Given the description of an element on the screen output the (x, y) to click on. 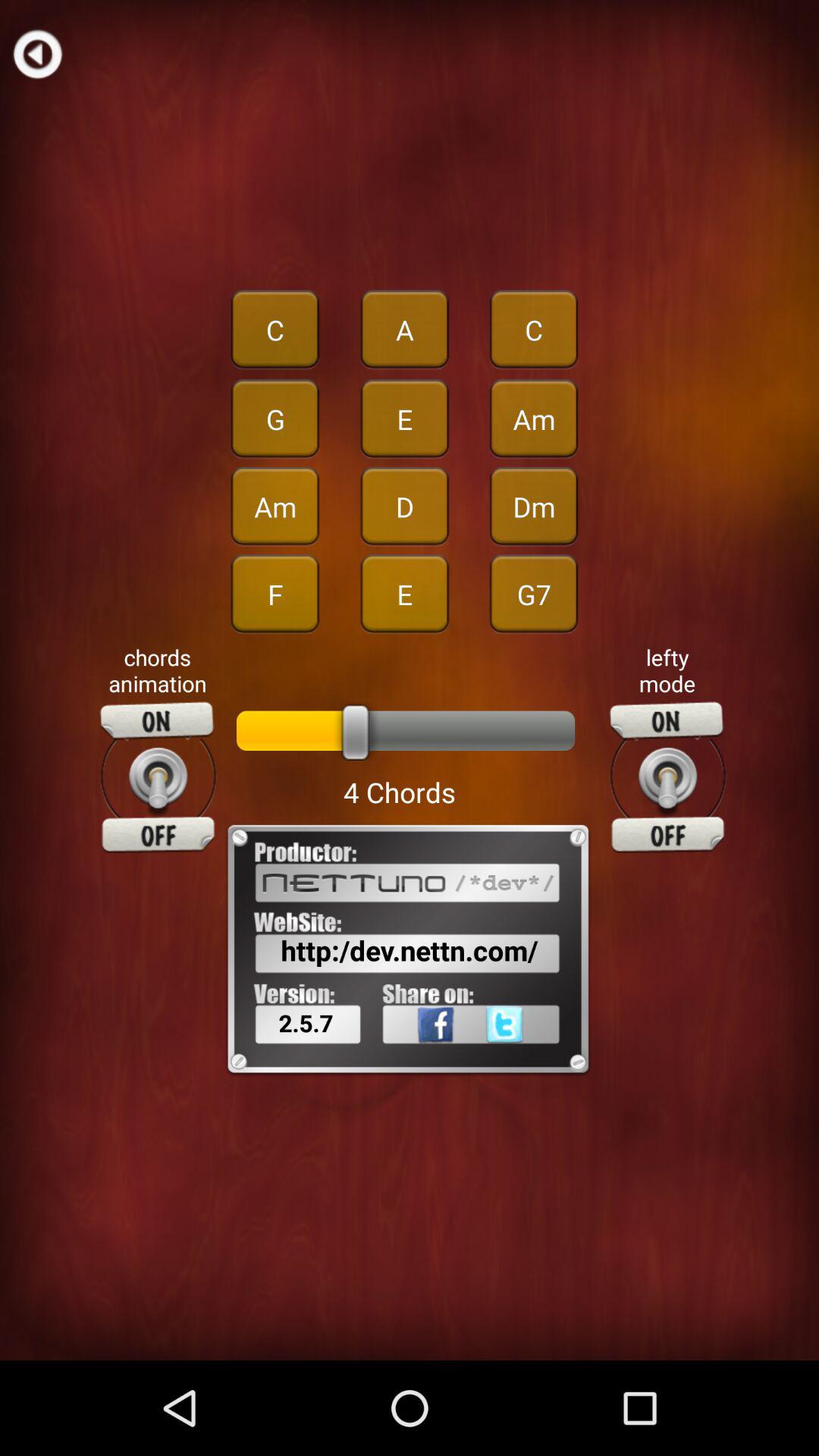
animation toggle (157, 777)
